Given the description of an element on the screen output the (x, y) to click on. 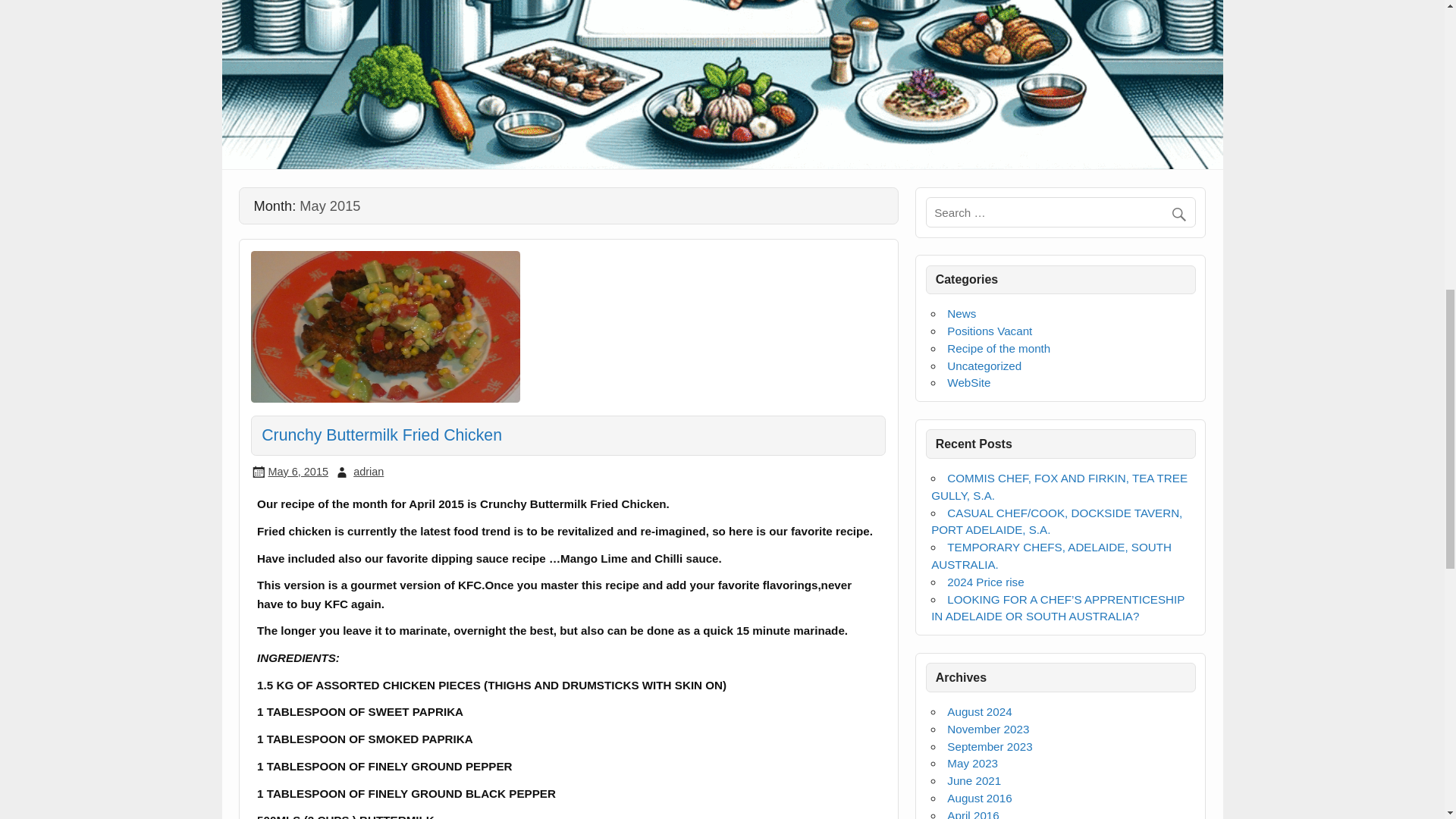
2024 Price rise (985, 581)
News (961, 313)
Crunchy Buttermilk Fried Chicken (382, 434)
May 6, 2015 (297, 471)
November 2023 (988, 728)
COMMIS CHEF, FOX AND FIRKIN, TEA TREE GULLY, S.A. (1059, 486)
View all posts by adrian (368, 471)
TEMPORARY CHEFS, ADELAIDE, SOUTH AUSTRALIA. (1051, 555)
4:44 pm (297, 471)
adrian (368, 471)
Positions Vacant (989, 330)
May 2023 (972, 762)
September 2023 (989, 746)
August 2024 (979, 711)
WebSite (968, 382)
